Given the description of an element on the screen output the (x, y) to click on. 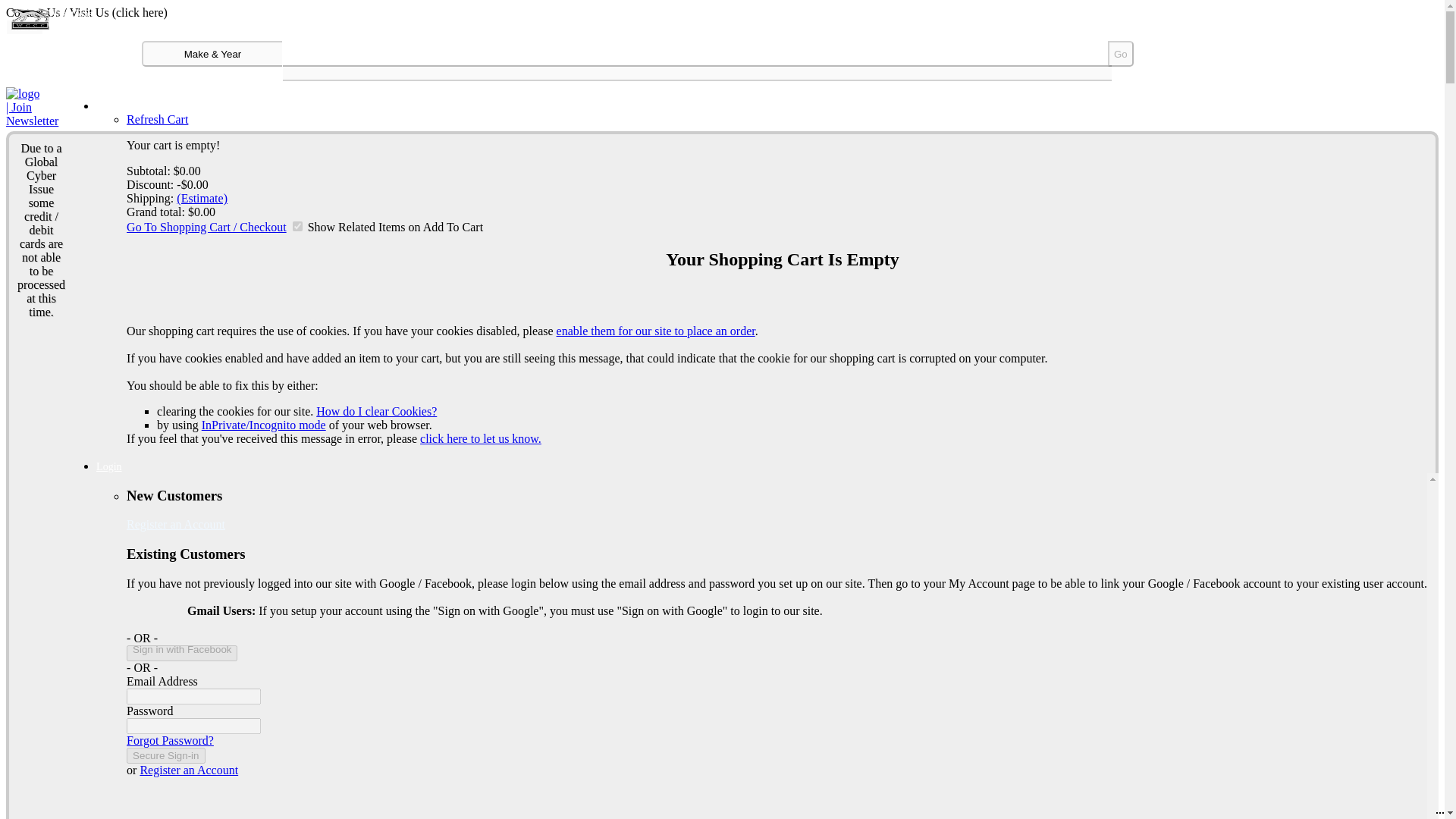
Help with Cookies (655, 330)
Refresh Cart (156, 119)
View Main Menu (24, 27)
Estimate Shipping (201, 197)
Register an Account (188, 769)
click here to let us know. (480, 438)
Register an Account (175, 523)
Secure Sign-in (165, 755)
Sign in with Facebook (181, 652)
Secure Sign-in (165, 755)
on (297, 225)
Login (108, 466)
enable them for our site to place an order (655, 330)
Forgot Password? (170, 739)
Go (1121, 53)
